Given the description of an element on the screen output the (x, y) to click on. 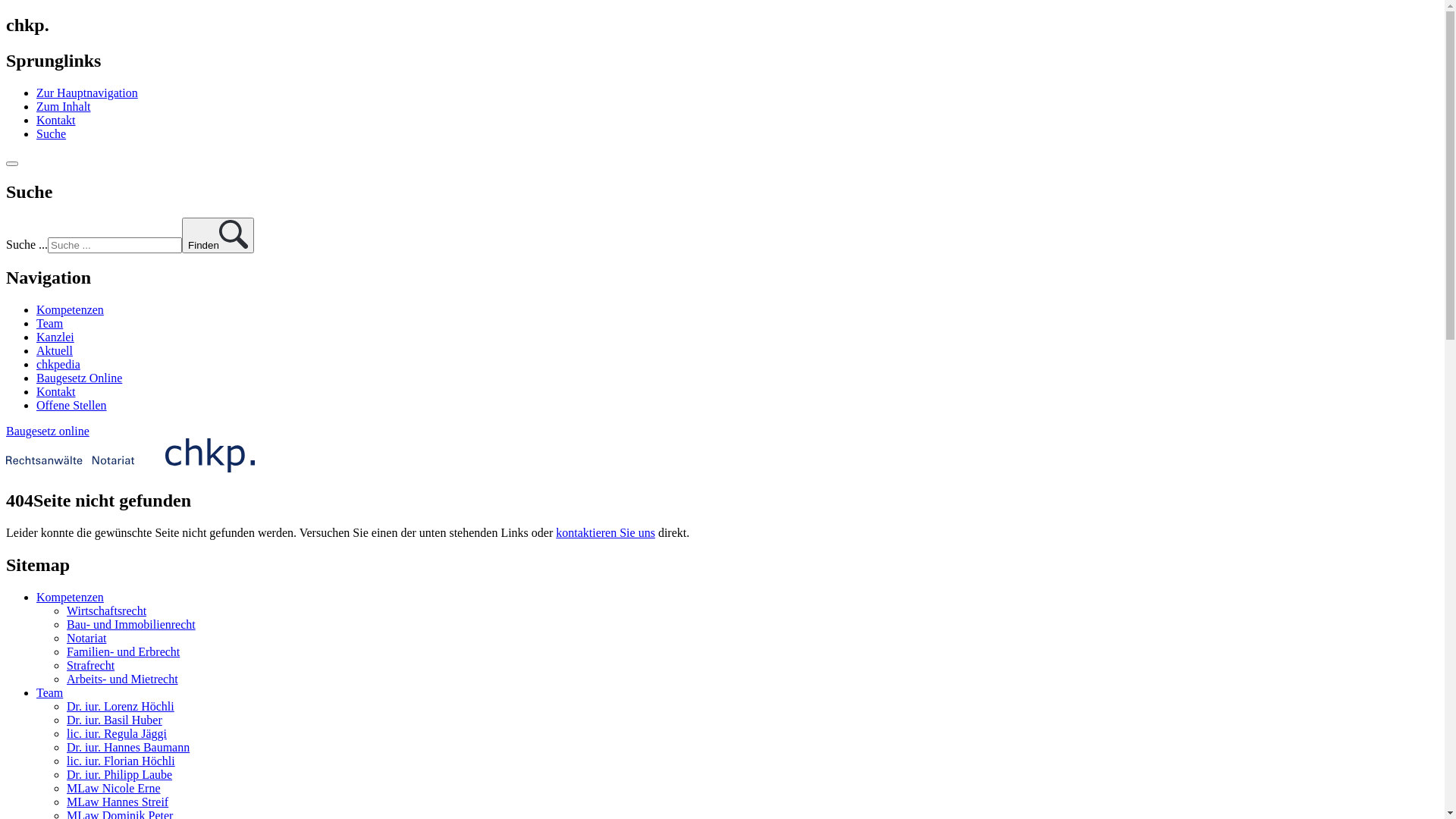
MLaw Hannes Streif Element type: text (117, 801)
Zur Hauptnavigation Element type: text (87, 92)
Baugesetz Online Element type: text (79, 377)
Strafrecht Element type: text (90, 664)
Suche Element type: text (50, 133)
Baugesetz online Element type: text (47, 430)
Dr. iur. Basil Huber Element type: text (114, 719)
chkp., zur Startseite Element type: text (130, 467)
Kompetenzen Element type: text (69, 596)
Arbeits- und Mietrecht Element type: text (122, 678)
Dr. iur. Philipp Laube Element type: text (119, 774)
Aktuell Element type: text (54, 350)
Notariat Element type: text (86, 637)
Kanzlei Element type: text (55, 336)
Zum Inhalt Element type: text (63, 106)
Dr. iur. Hannes Baumann Element type: text (127, 746)
Kontakt Element type: text (55, 119)
kontaktieren Sie uns Element type: text (605, 532)
Kontakt Element type: text (55, 391)
Offene Stellen Element type: text (71, 404)
Bau- und Immobilienrecht Element type: text (130, 624)
Familien- und Erbrecht Element type: text (122, 651)
MLaw Nicole Erne Element type: text (113, 787)
Kompetenzen Element type: text (69, 309)
Wirtschaftsrecht Element type: text (106, 610)
Team Element type: text (49, 322)
Team Element type: text (49, 692)
FindenSuche starten Element type: text (218, 235)
chkpedia Element type: text (58, 363)
